Given the description of an element on the screen output the (x, y) to click on. 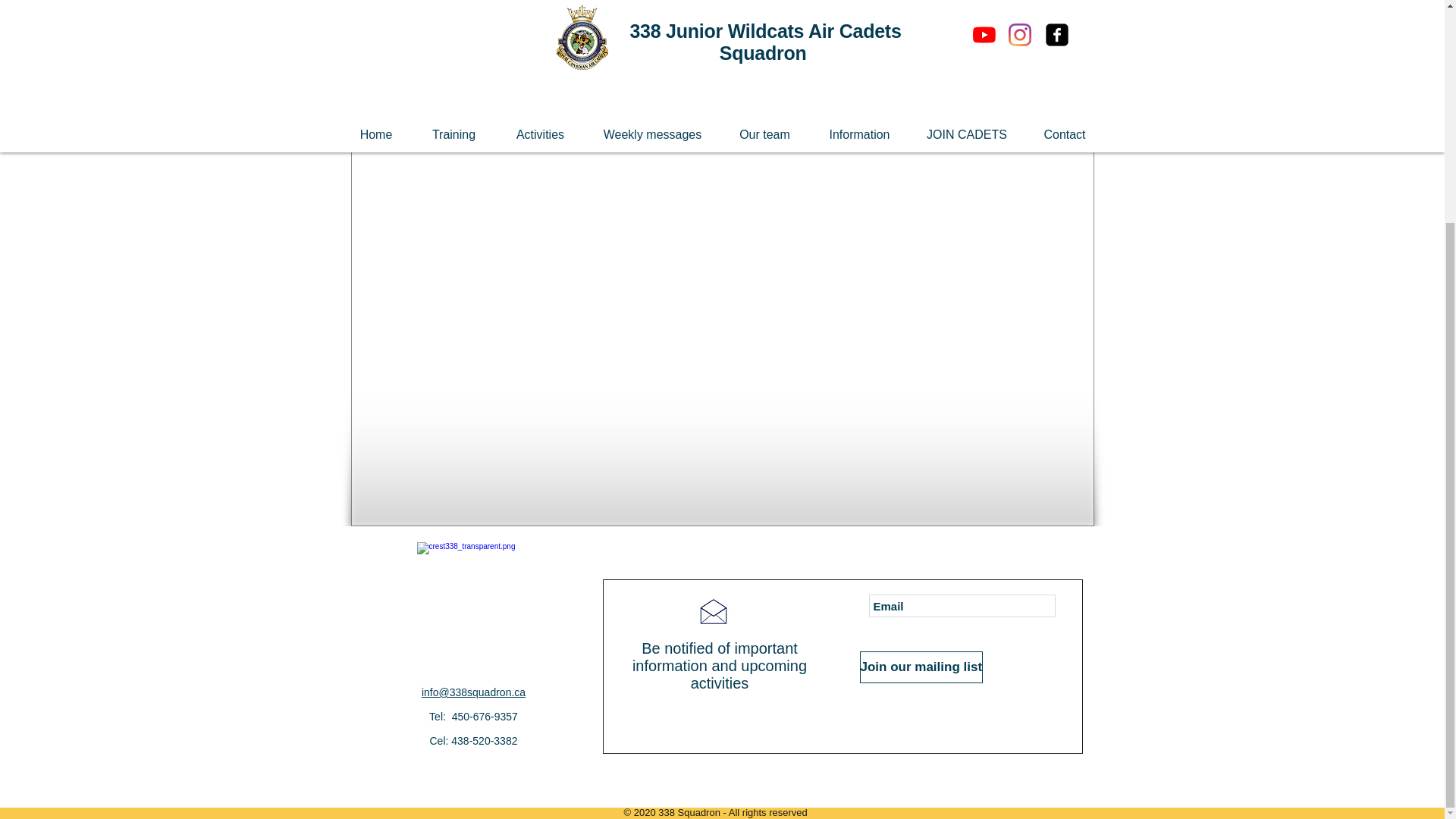
Join our mailing list (922, 667)
